Given the description of an element on the screen output the (x, y) to click on. 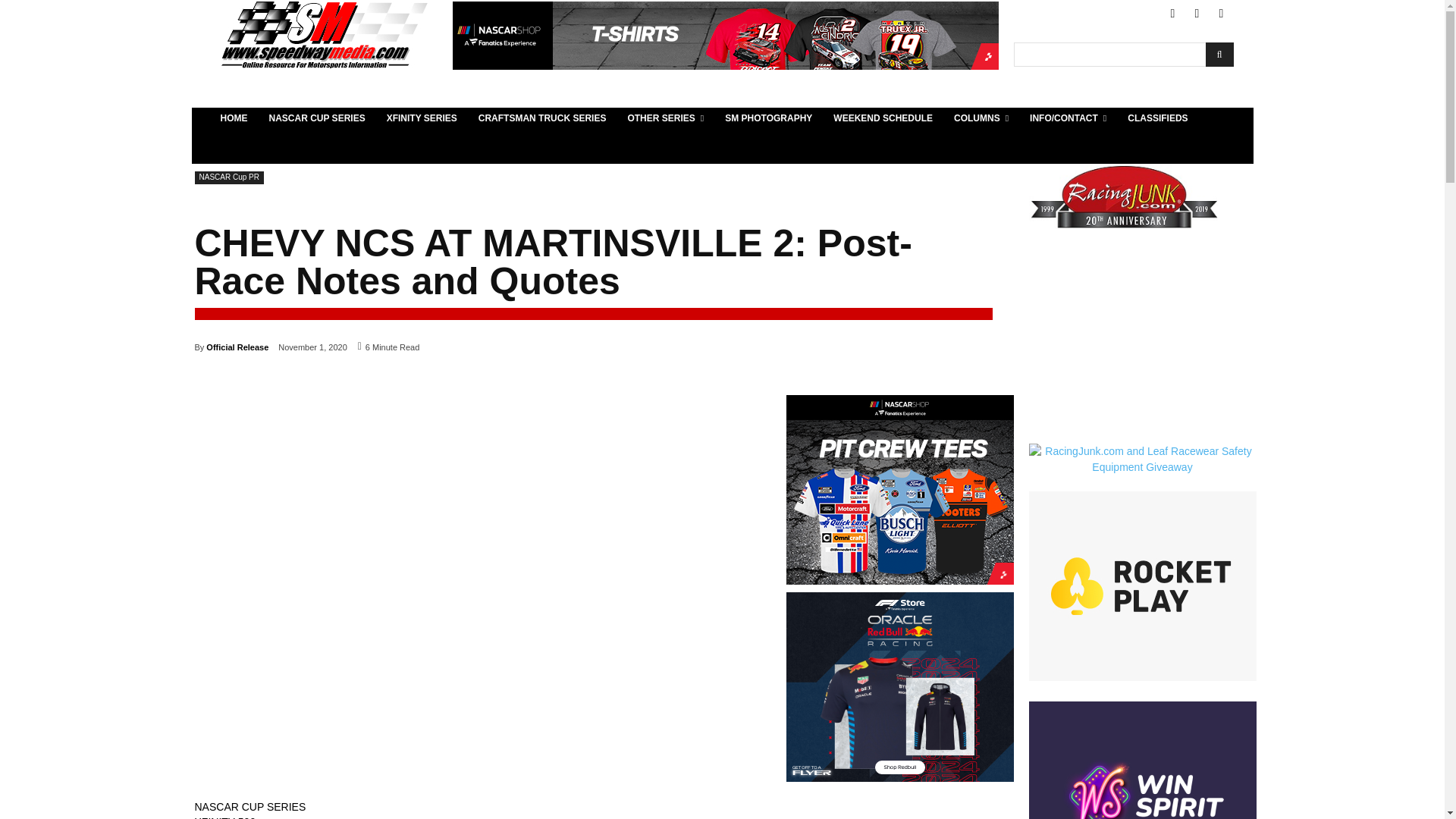
Twitter (1196, 13)
Facebook (1172, 13)
NASCAR CUP SERIES (316, 117)
HOME (233, 117)
Instagram (1220, 13)
